Given the description of an element on the screen output the (x, y) to click on. 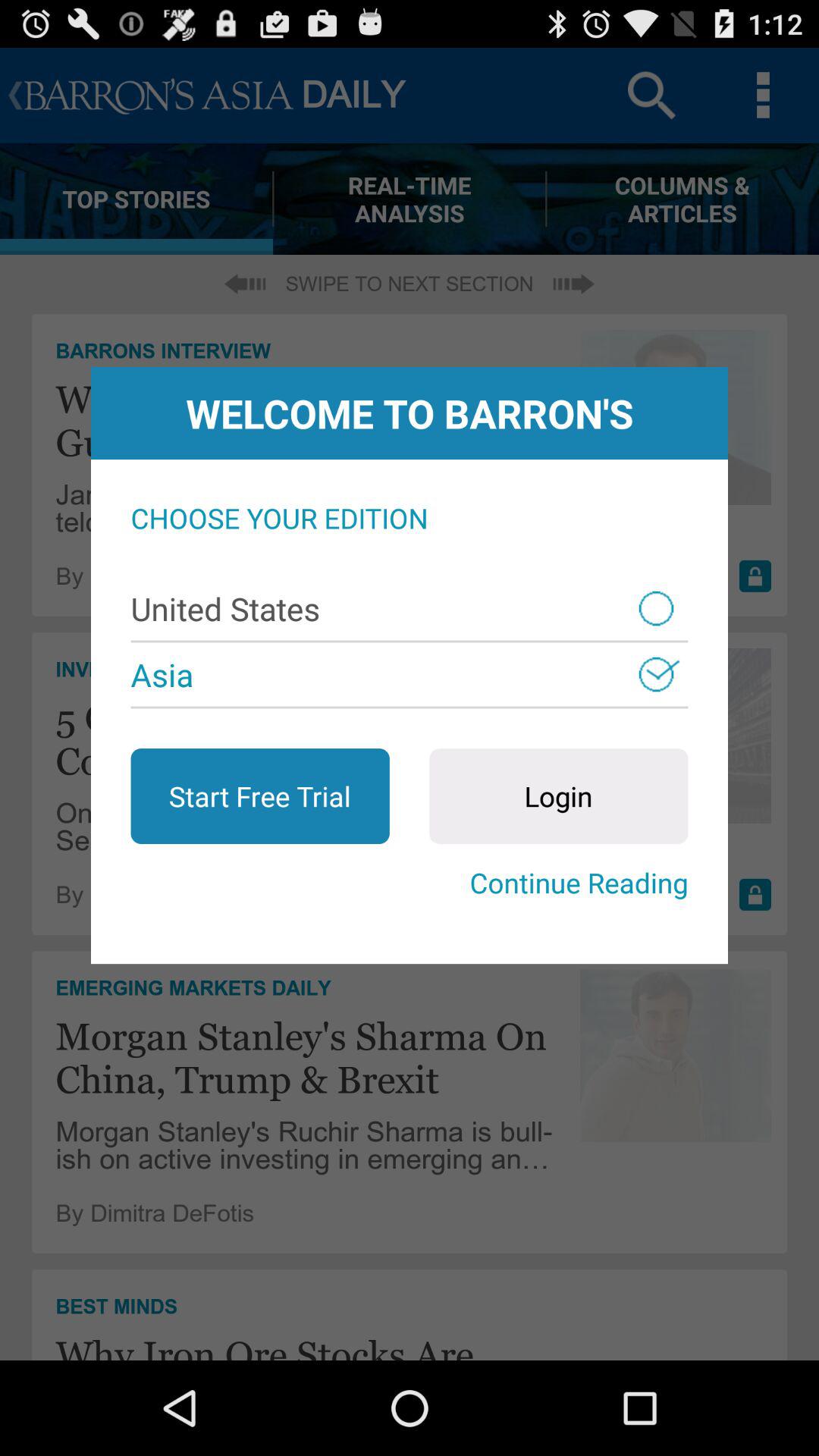
choose start free trial icon (259, 796)
